Given the description of an element on the screen output the (x, y) to click on. 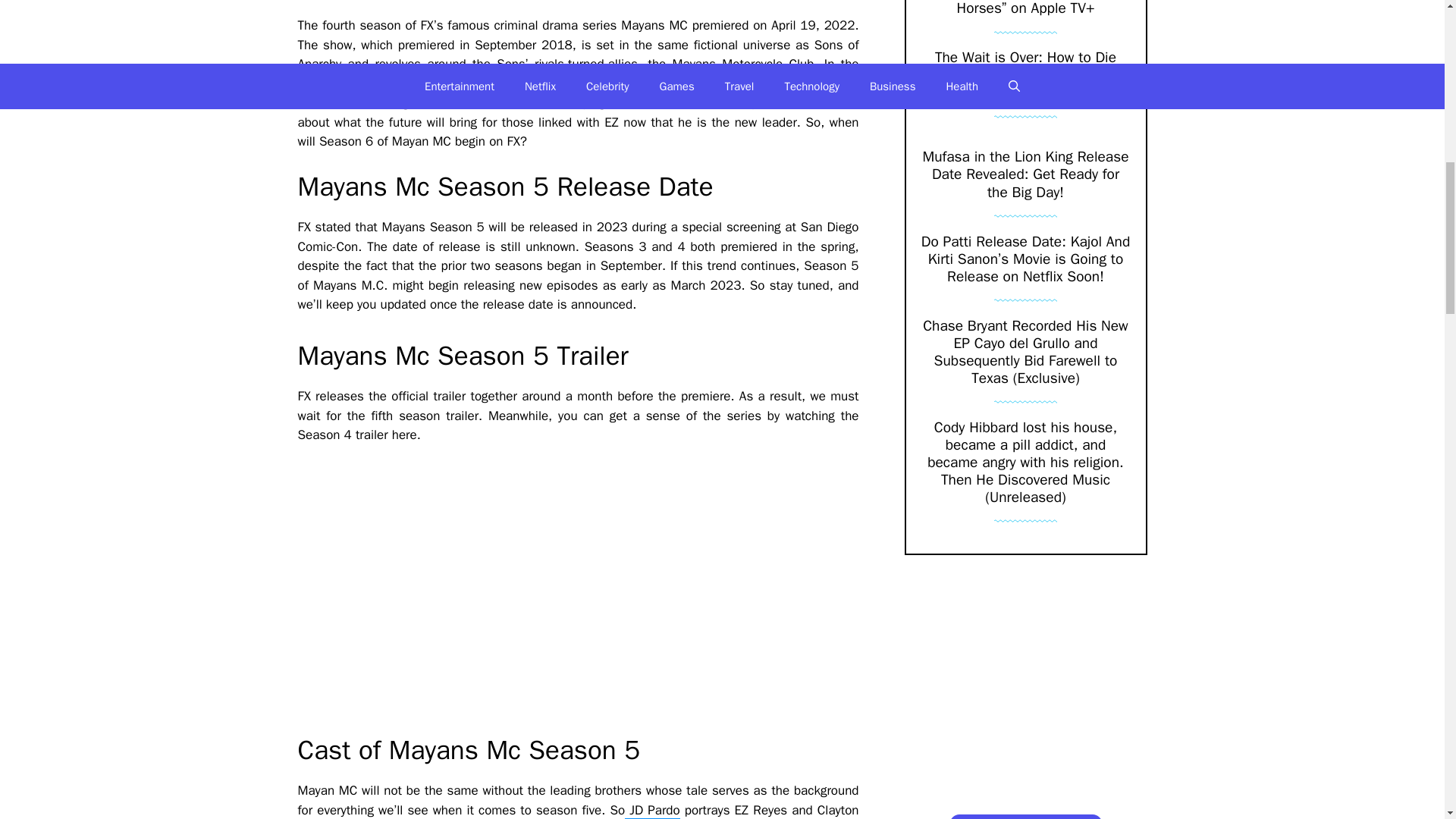
JD Pardo (651, 810)
YouTube video player (509, 589)
